Given the description of an element on the screen output the (x, y) to click on. 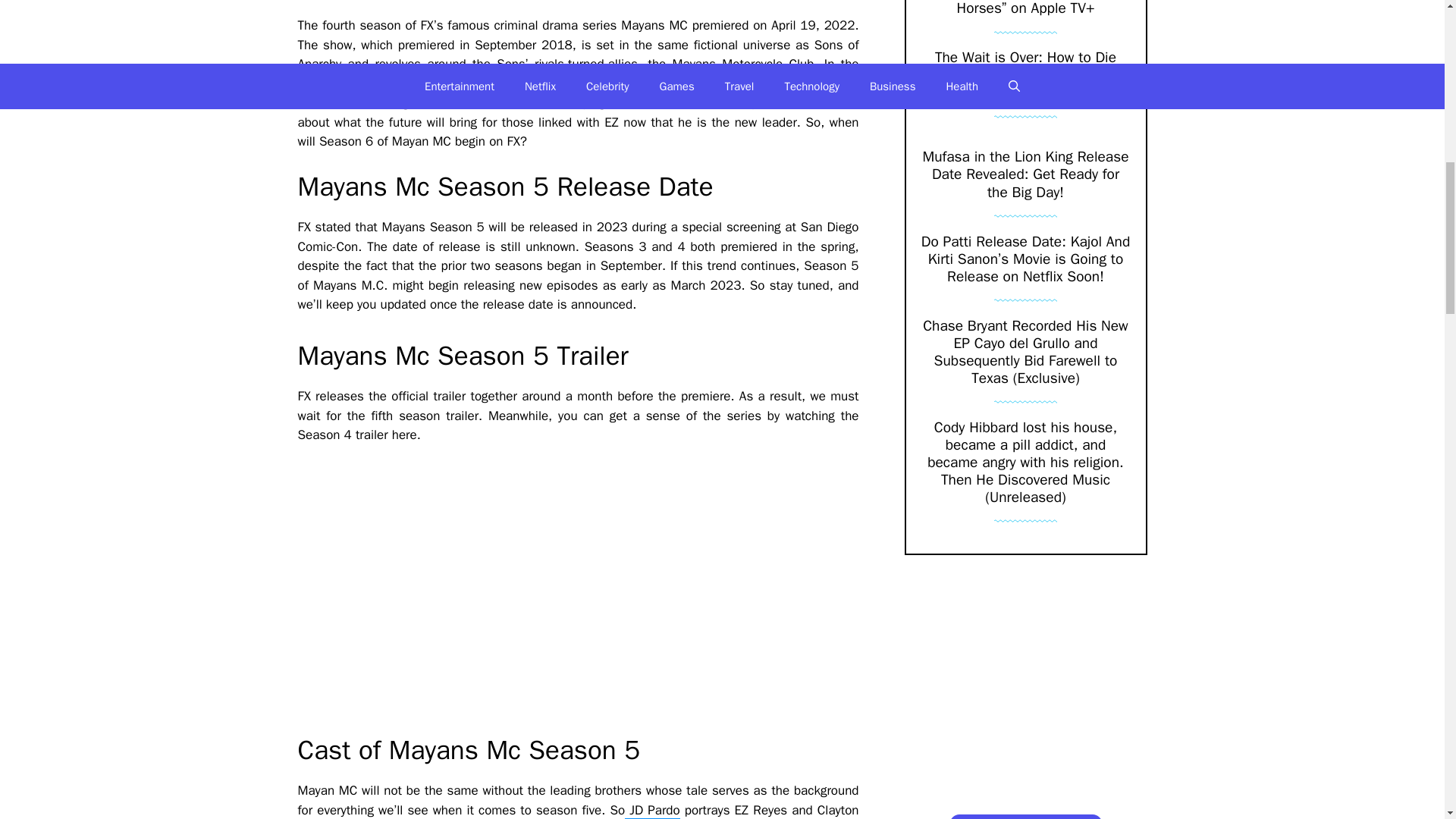
JD Pardo (651, 810)
YouTube video player (509, 589)
